Given the description of an element on the screen output the (x, y) to click on. 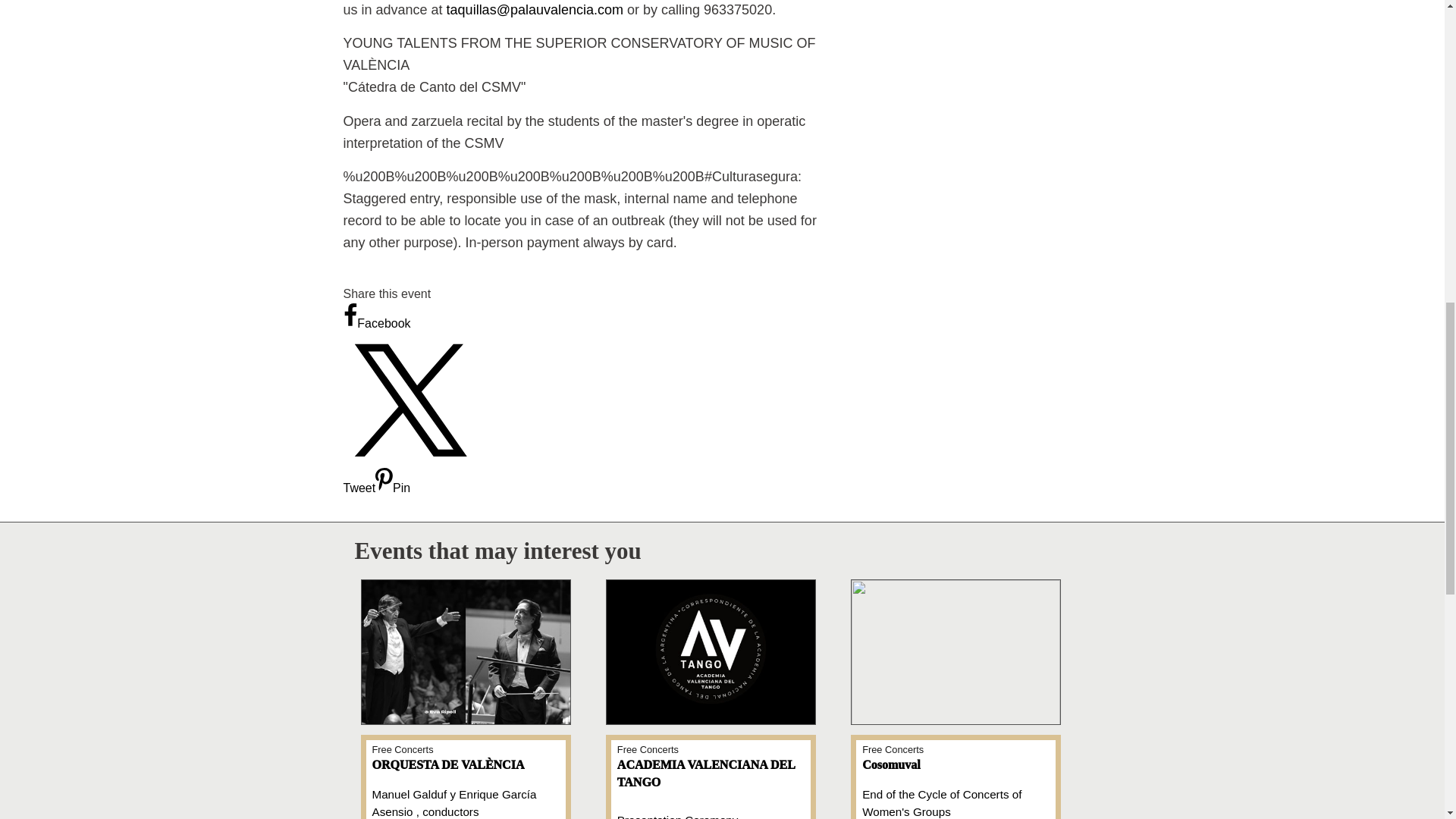
Share on Twitter (409, 475)
Share on Facebook (376, 323)
Share on Pinterest (392, 487)
